Given the description of an element on the screen output the (x, y) to click on. 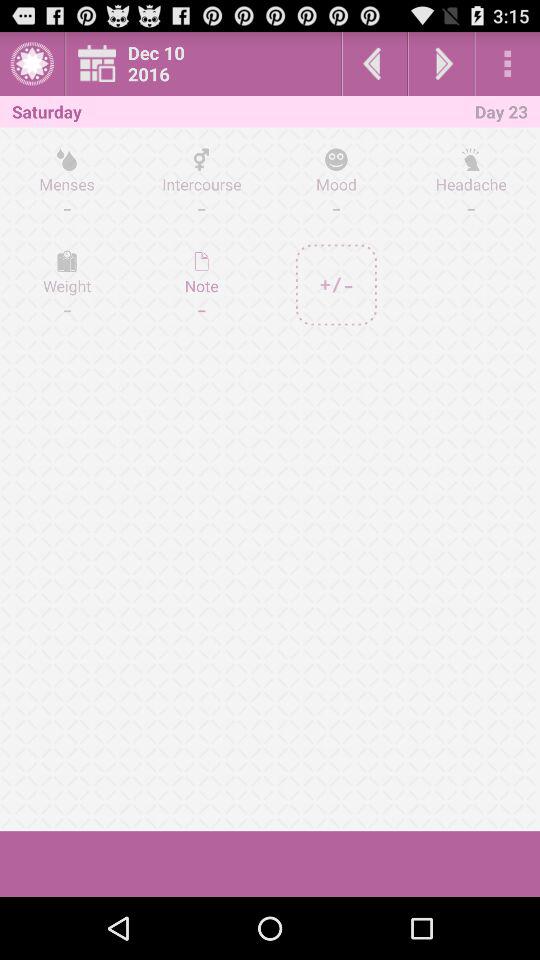
more (507, 63)
